Given the description of an element on the screen output the (x, y) to click on. 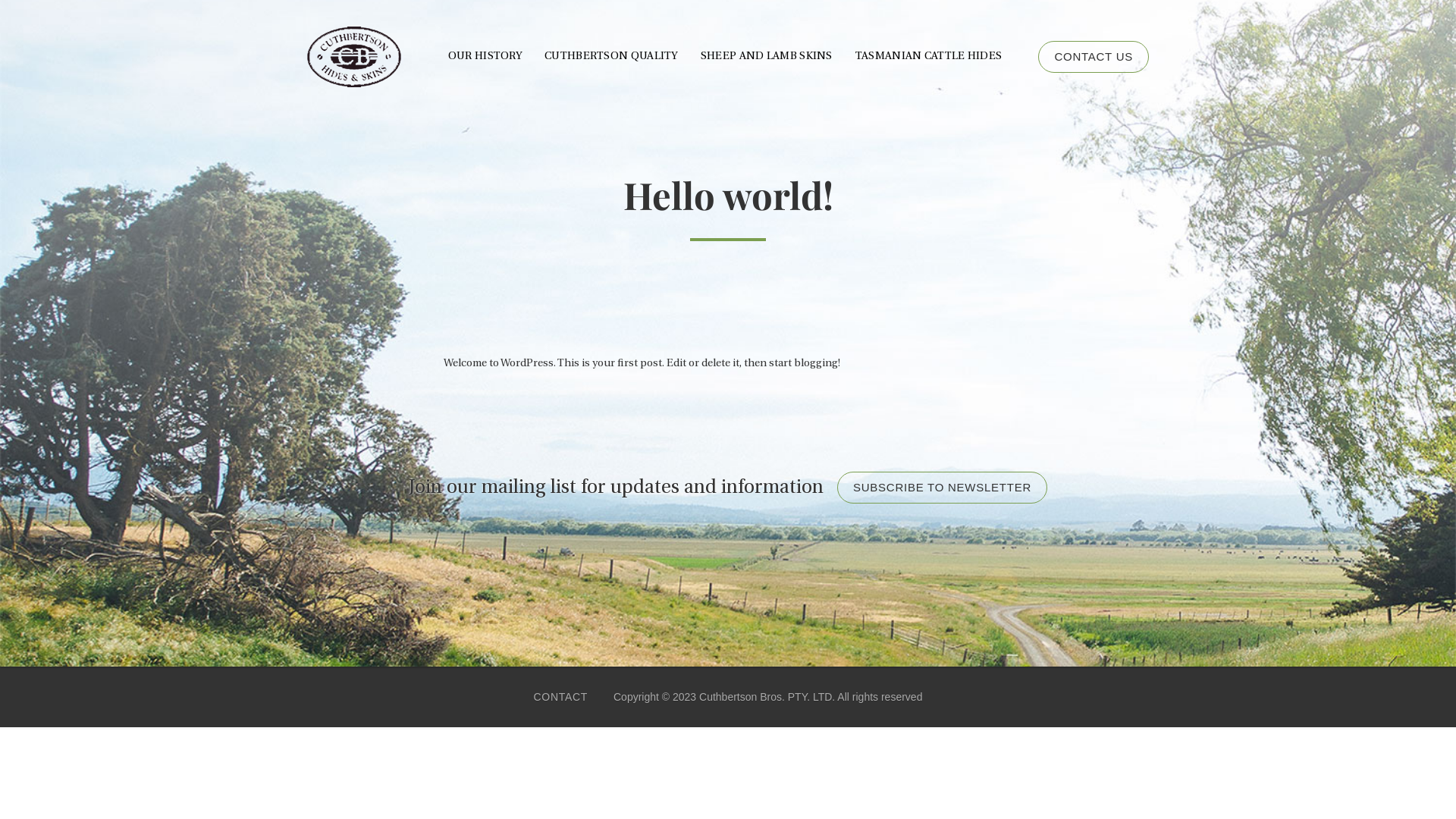
Cuthbertson Brothers Skins and Hides Element type: text (354, 56)
TASMANIAN CATTLE HIDES Element type: text (928, 56)
CONTACT US Element type: text (1093, 56)
CONTACT Element type: text (560, 696)
CUTHBERTSON QUALITY Element type: text (610, 56)
SHEEP AND LAMB SKINS Element type: text (766, 56)
OUR HISTORY Element type: text (484, 56)
